Given the description of an element on the screen output the (x, y) to click on. 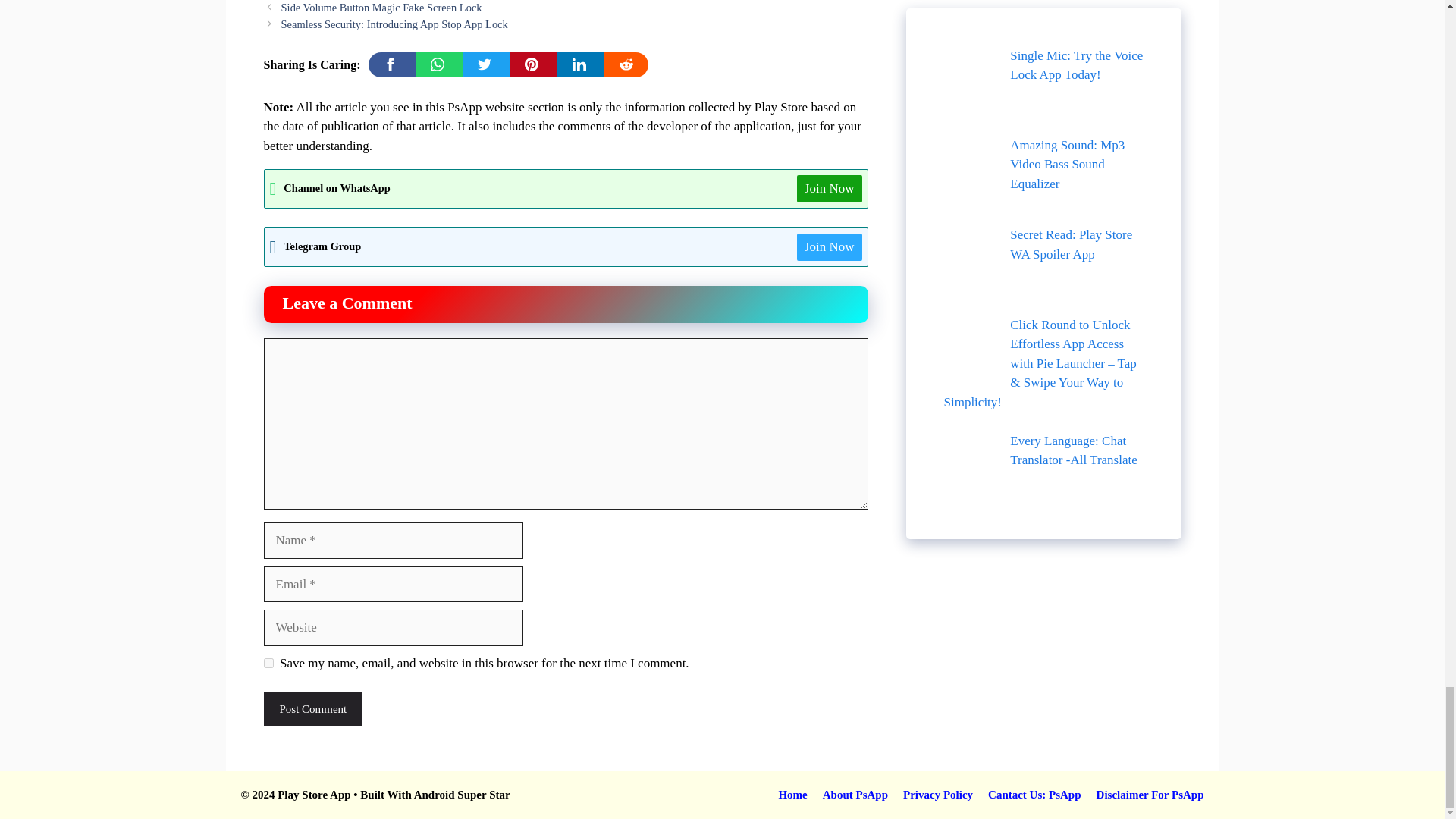
Post Comment (312, 709)
yes (268, 663)
Side Volume Button Magic Fake Screen Lock (381, 7)
Seamless Security: Introducing App Stop App Lock (394, 24)
